Given the description of an element on the screen output the (x, y) to click on. 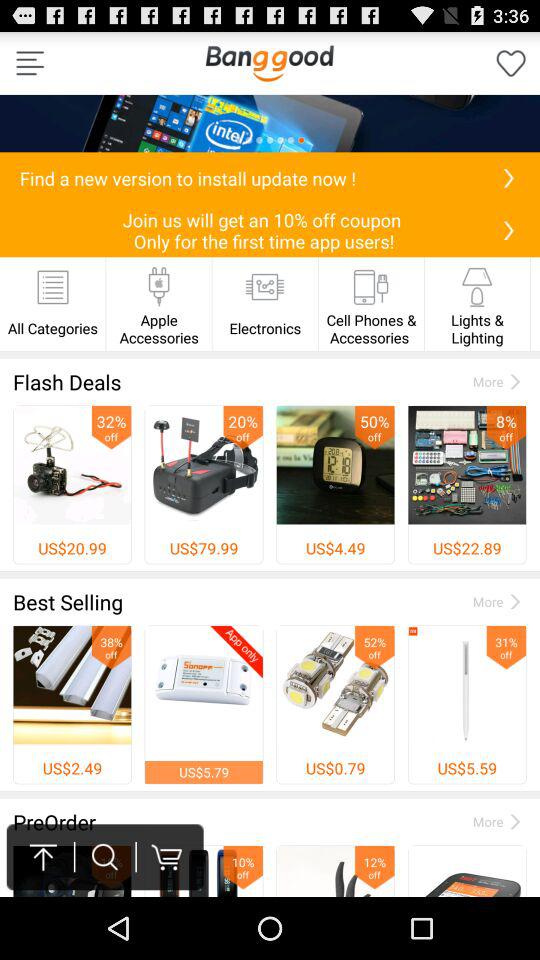
link to update page (508, 177)
